Given the description of an element on the screen output the (x, y) to click on. 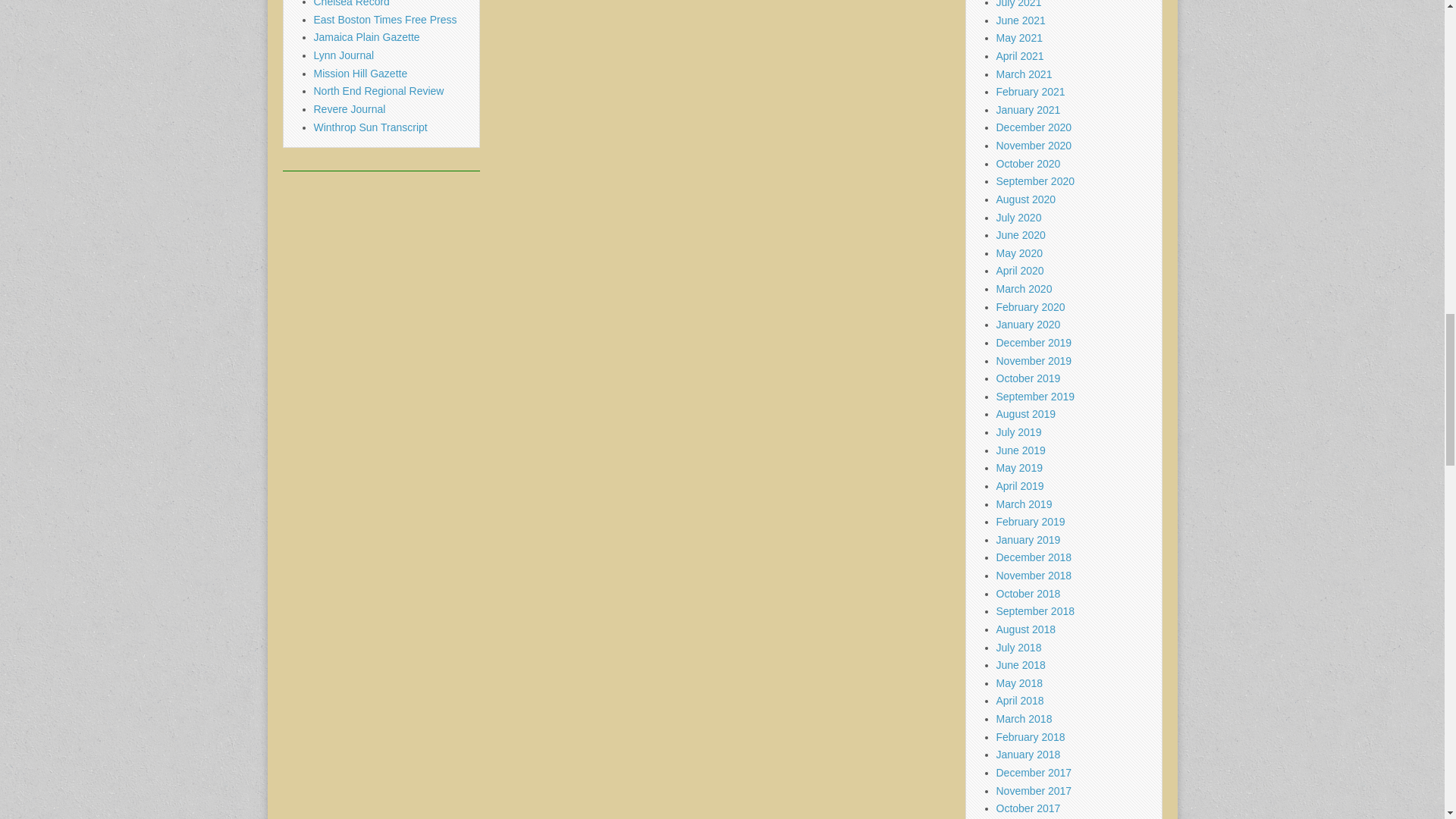
Jamaica Plain Gazette (367, 37)
East Boston Times Free Press (385, 19)
Lynn Journal (344, 55)
Chelsea Record (352, 3)
